Given the description of an element on the screen output the (x, y) to click on. 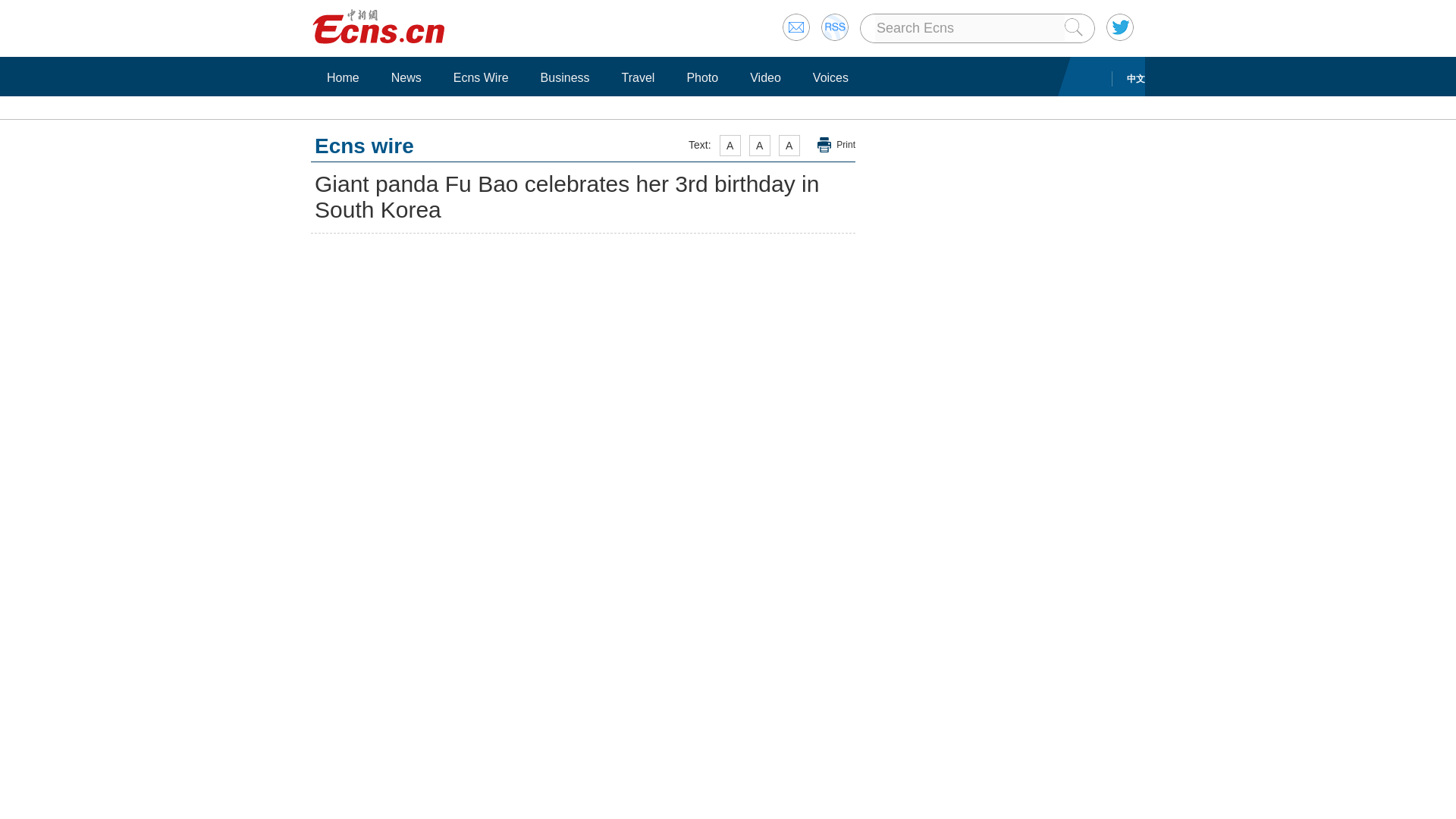
Video (765, 77)
Home (343, 77)
Ecns Wire (480, 77)
Print (836, 144)
News (405, 77)
Travel (637, 77)
Business (565, 77)
Search Ecns (969, 27)
Voices (831, 77)
Photo (702, 77)
